Given the description of an element on the screen output the (x, y) to click on. 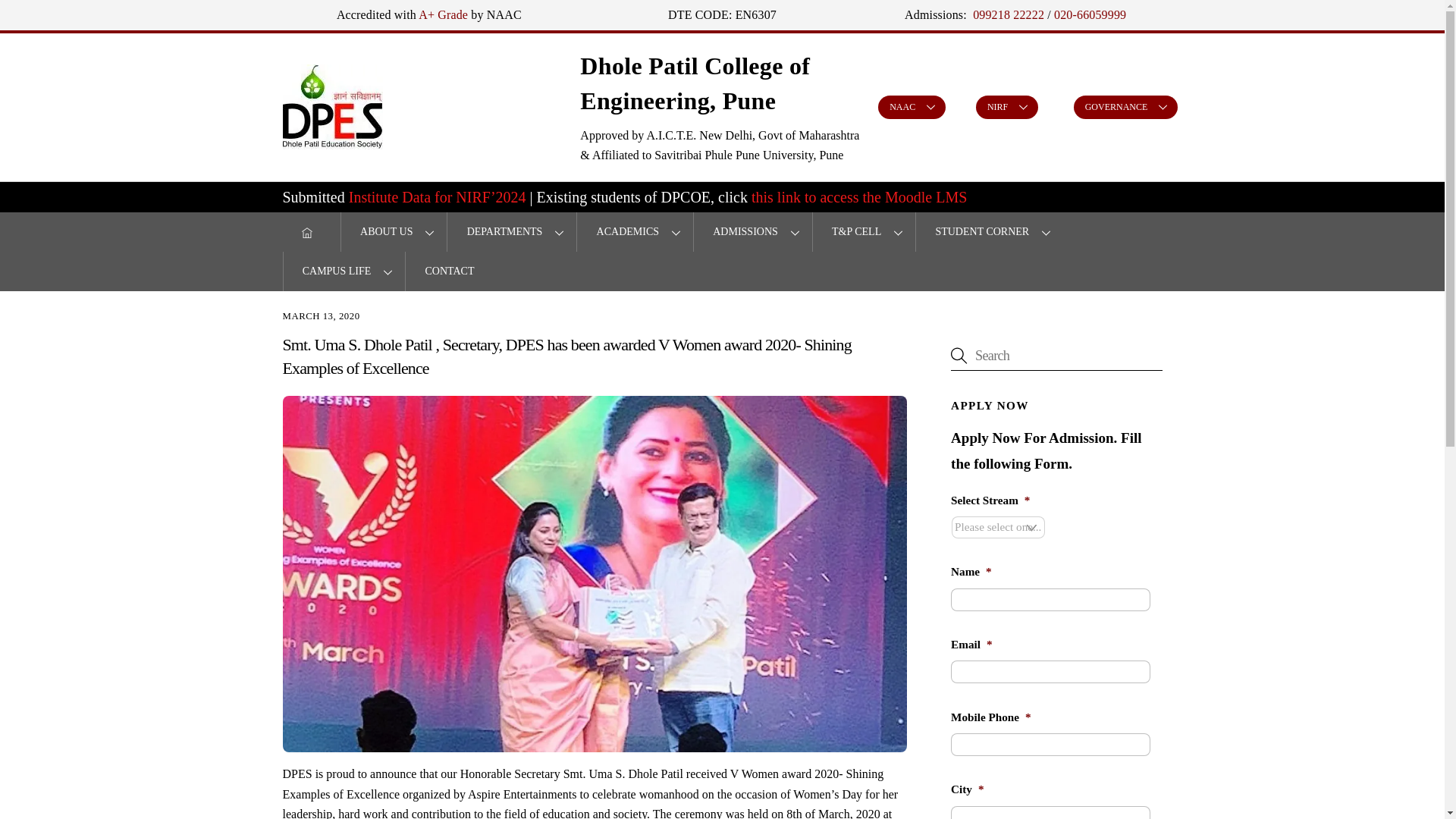
GOVERNANCE (1125, 106)
099218 22222 (1006, 14)
020-66059999 (1089, 14)
Search (1055, 355)
ABOUT US (393, 231)
dpes-logo-updated (331, 106)
NAAC (910, 106)
NIRF (1006, 106)
